Given the description of an element on the screen output the (x, y) to click on. 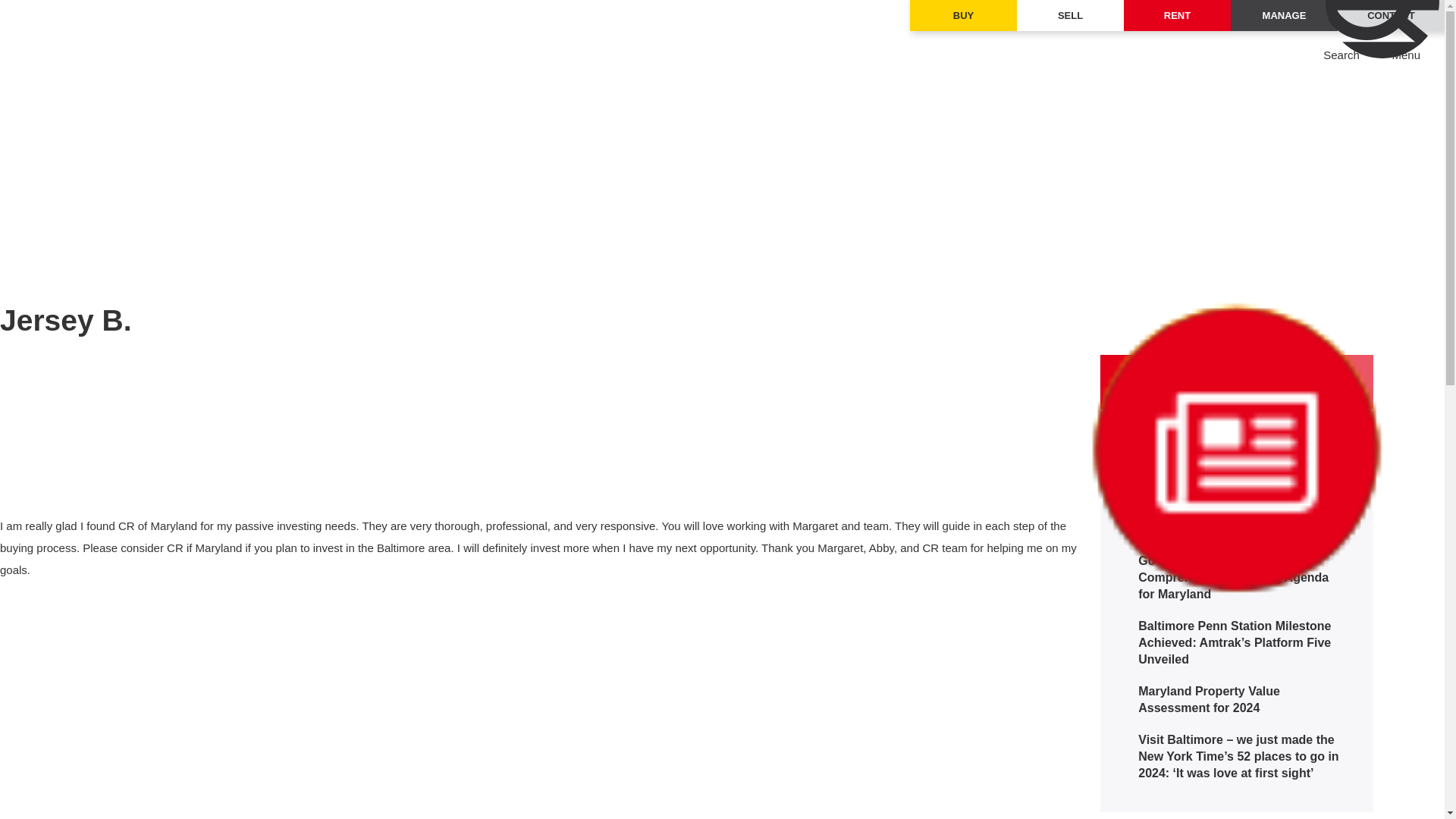
BUY (963, 15)
5 Property Management Tips for Landlords (1232, 512)
Maryland Property Value Assessment for 2024 (1232, 692)
Menu (1406, 55)
RENT (1177, 15)
Search (1341, 55)
MANAGE (1284, 15)
SELL (1070, 15)
